Given the description of an element on the screen output the (x, y) to click on. 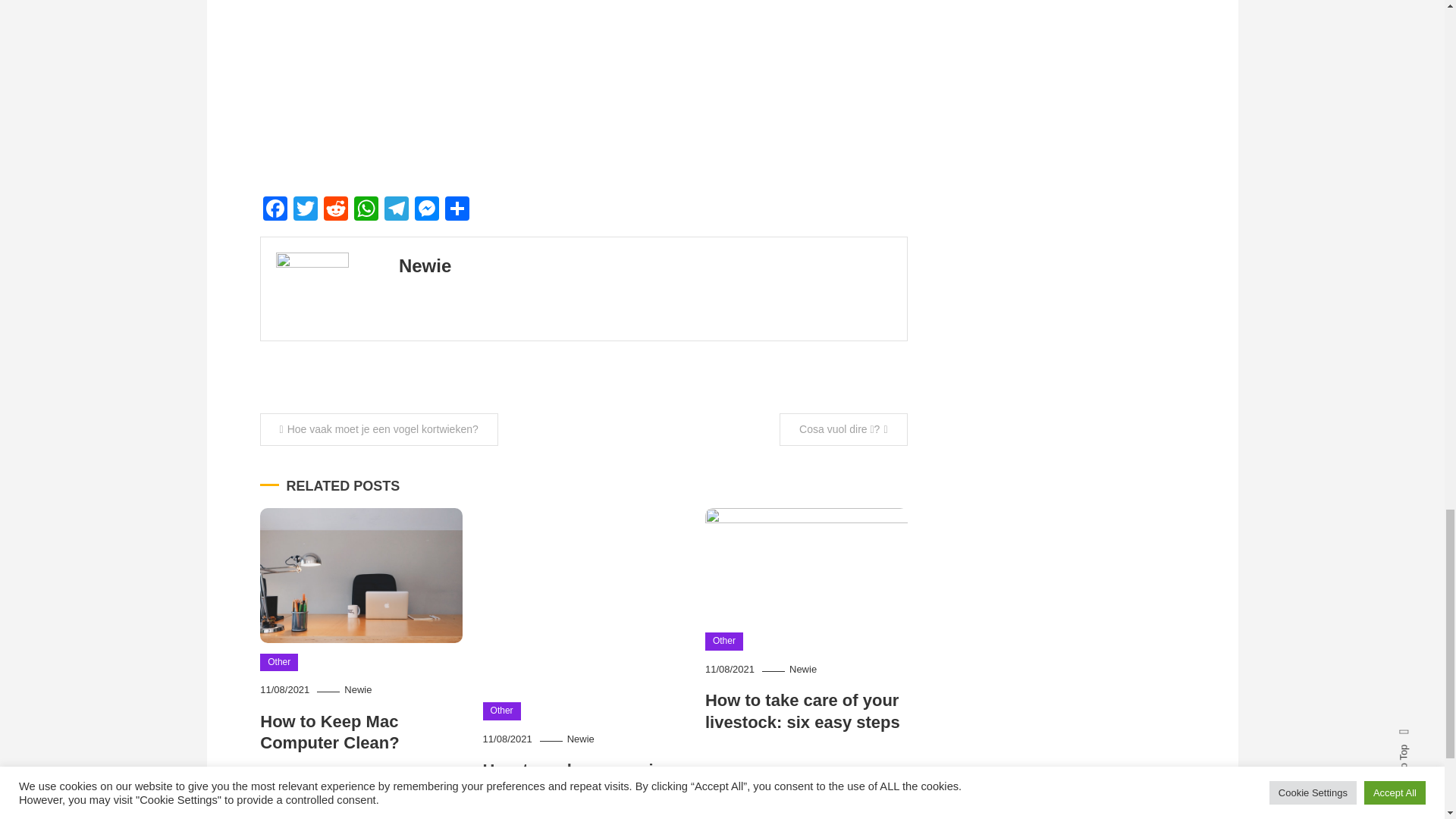
Twitter (304, 210)
Newie (424, 265)
Newie (802, 668)
Telegram (395, 210)
WhatsApp (365, 210)
How to Keep Mac Computer Clean? (329, 731)
Reddit (335, 210)
Facebook (274, 210)
Other (279, 662)
